Given the description of an element on the screen output the (x, y) to click on. 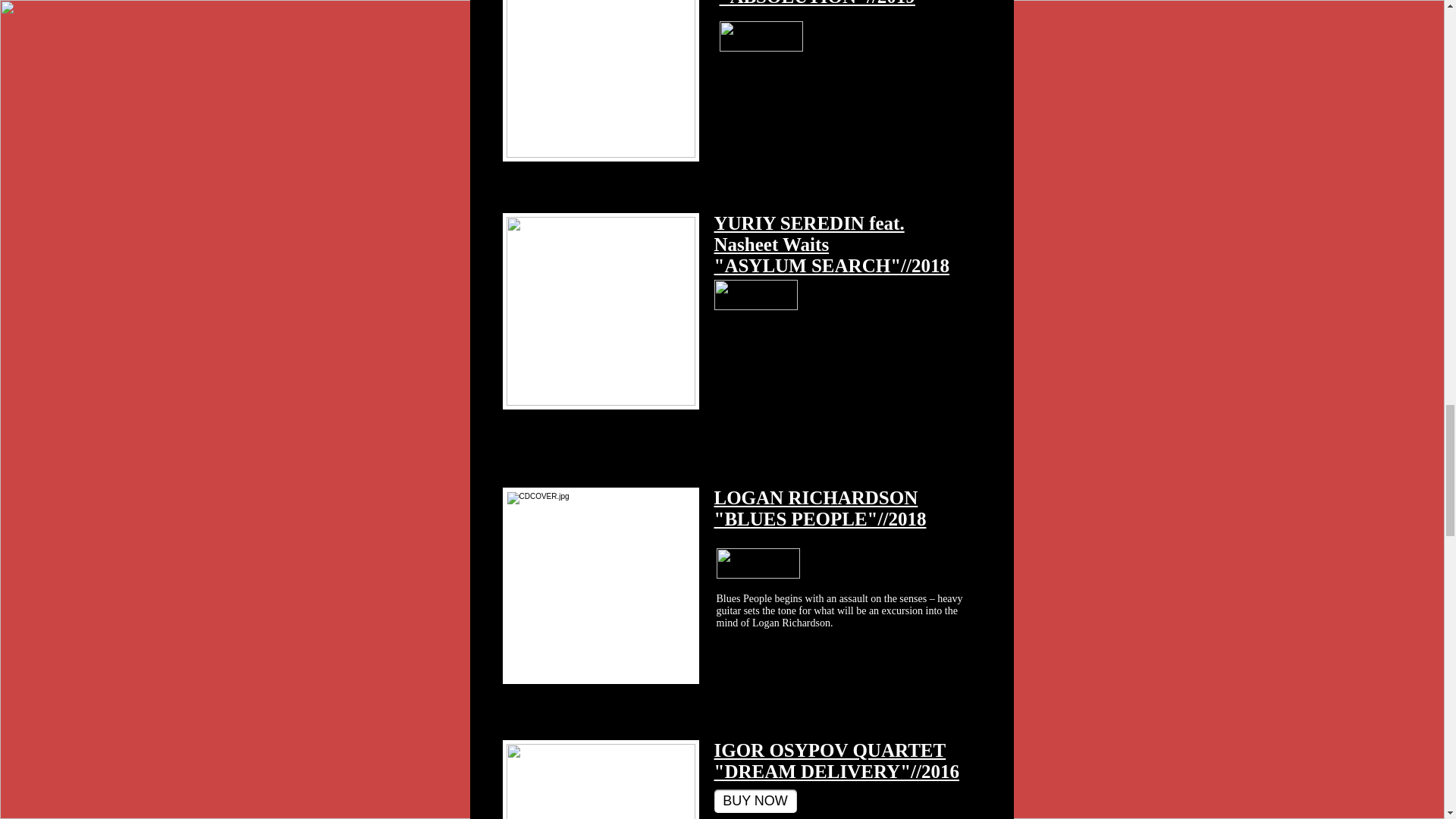
flqn.jpeg (600, 310)
Get it on iTunes (760, 36)
IGOR OSYPOV QUARTET (830, 750)
BUY NOW (755, 801)
LOGAN RICHARDSON (816, 497)
